Given the description of an element on the screen output the (x, y) to click on. 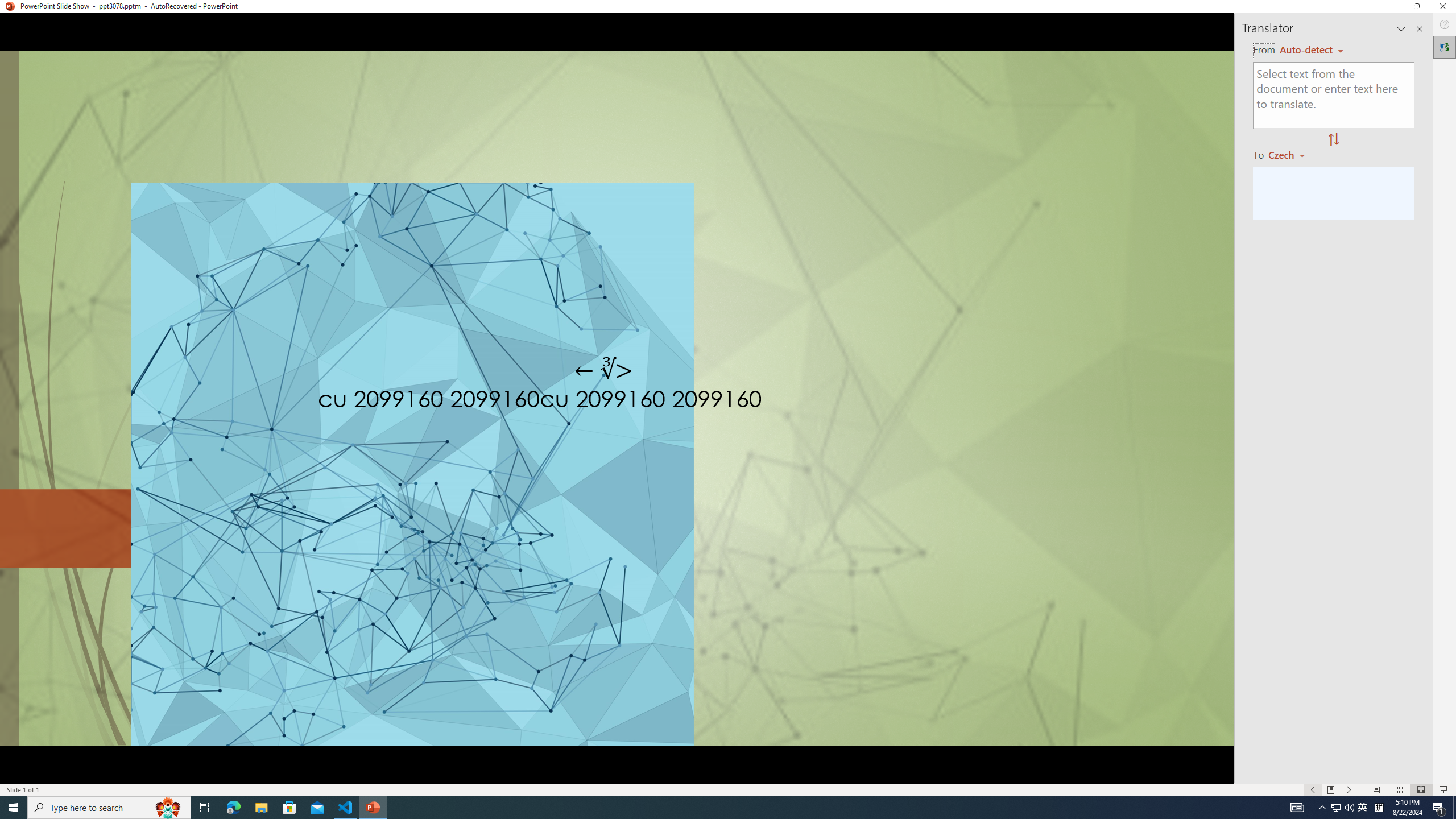
Slide Show Previous On (1313, 790)
Slide Show Next On (1349, 790)
Swap "from" and "to" languages. (1333, 140)
English (1310, 50)
Czech (1291, 154)
